Given the description of an element on the screen output the (x, y) to click on. 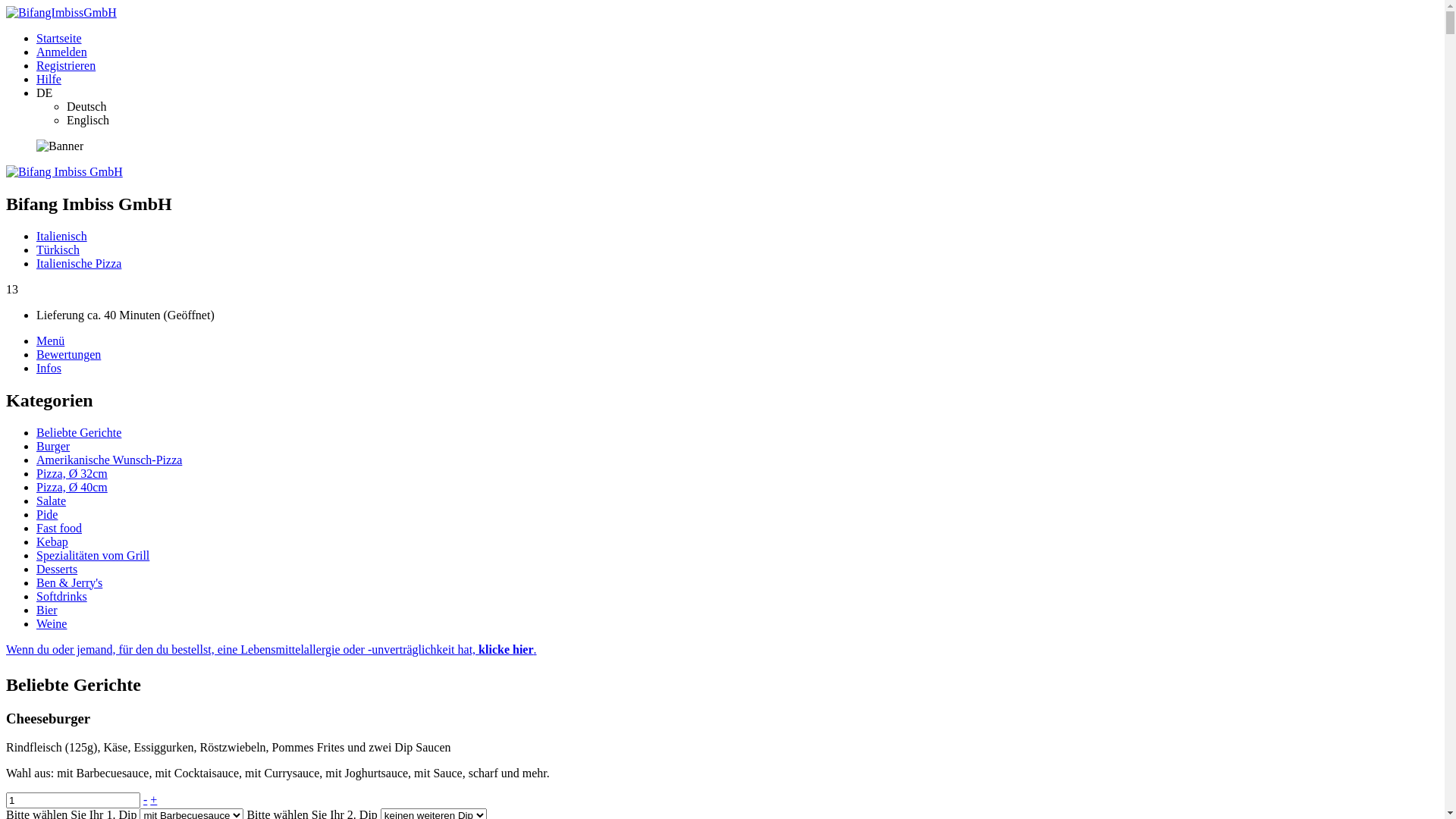
Bier Element type: text (46, 609)
Ben & Jerry's Element type: text (69, 582)
- Element type: text (145, 799)
Startseite Element type: text (58, 37)
Burger Element type: text (52, 445)
Fast food Element type: text (58, 527)
Salate Element type: text (50, 500)
Kebap Element type: text (52, 541)
Anmelden Element type: text (61, 51)
Hilfe Element type: text (48, 78)
Weine Element type: text (51, 623)
Softdrinks Element type: text (61, 595)
Italienische Pizza Element type: text (78, 263)
Desserts Element type: text (56, 568)
Bewertungen Element type: text (68, 354)
Pide Element type: text (46, 514)
Italienisch Element type: text (61, 235)
Beliebte Gerichte Element type: text (78, 432)
Registrieren Element type: text (65, 65)
Amerikanische Wunsch-Pizza Element type: text (109, 459)
Infos Element type: text (48, 367)
+ Element type: text (153, 799)
